Given the description of an element on the screen output the (x, y) to click on. 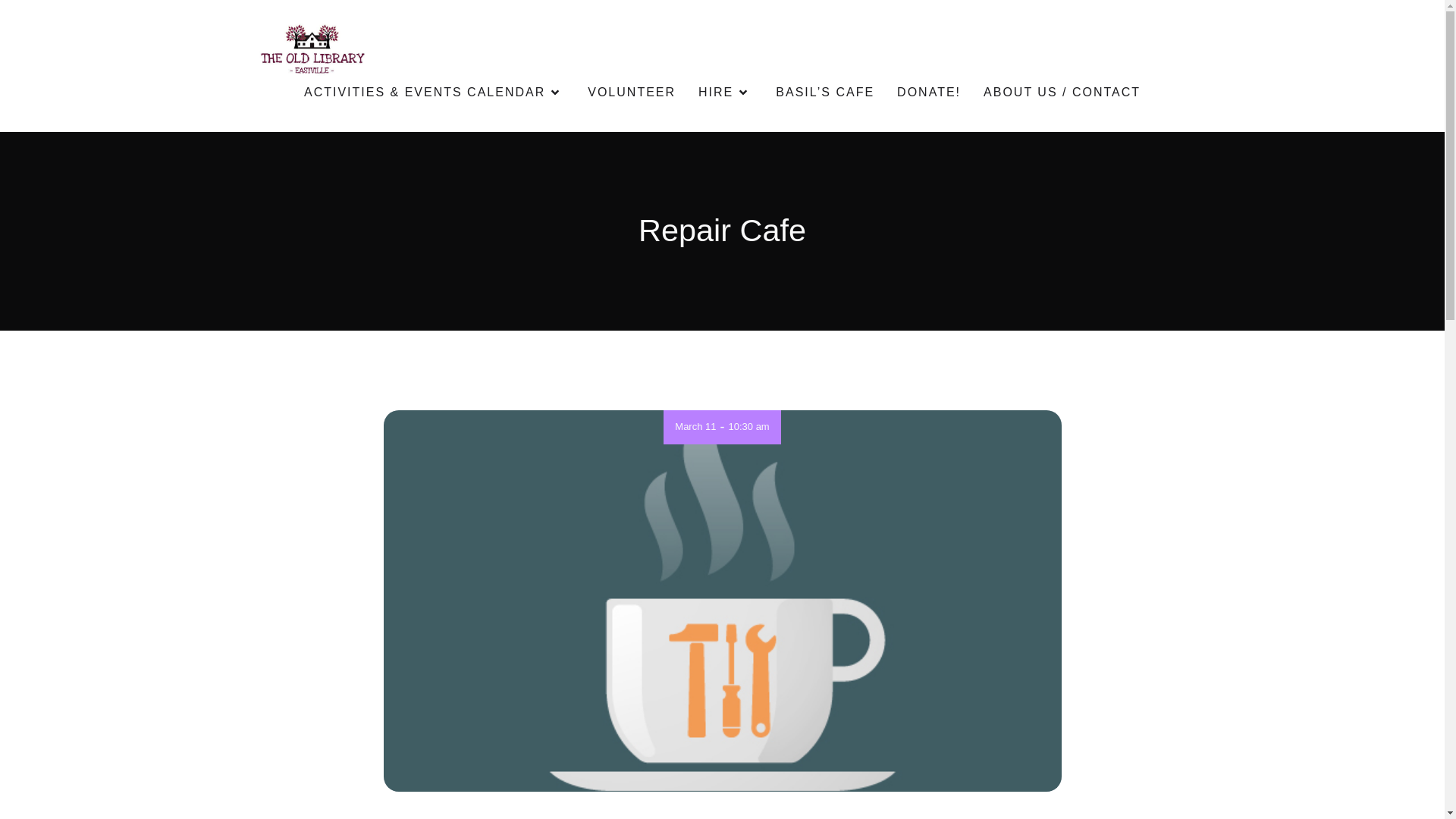
VOLUNTEER (631, 92)
HIRE (725, 92)
March 11 (695, 426)
10:30 am (748, 426)
DONATE! (928, 92)
